Given the description of an element on the screen output the (x, y) to click on. 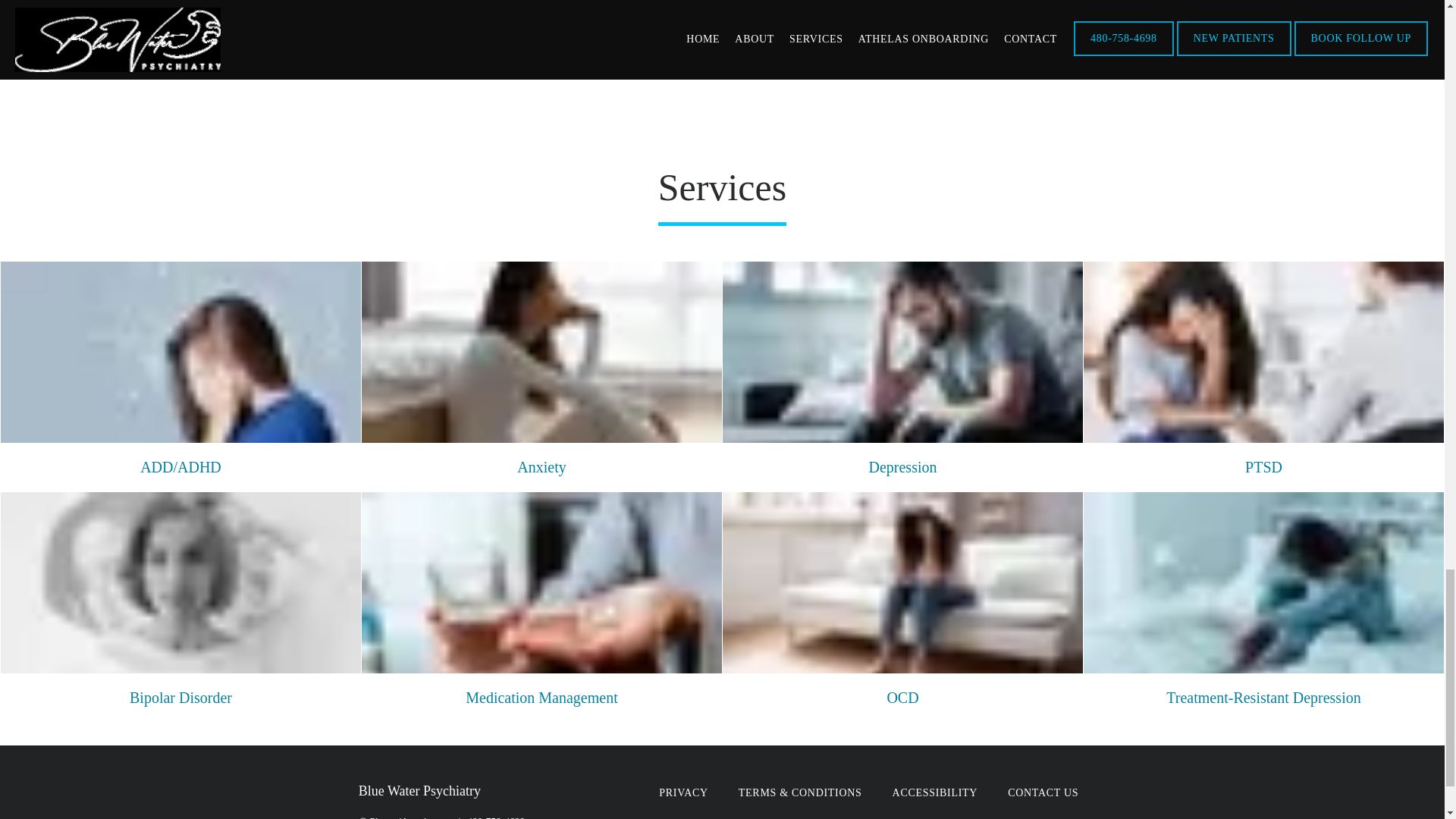
Anxiety (541, 467)
OCD (902, 697)
Depression (903, 467)
Treatment-Resistant Depression (1262, 697)
Medication Management (541, 697)
PRIVACY (683, 792)
Bipolar Disorder (180, 697)
PTSD (1263, 467)
